Given the description of an element on the screen output the (x, y) to click on. 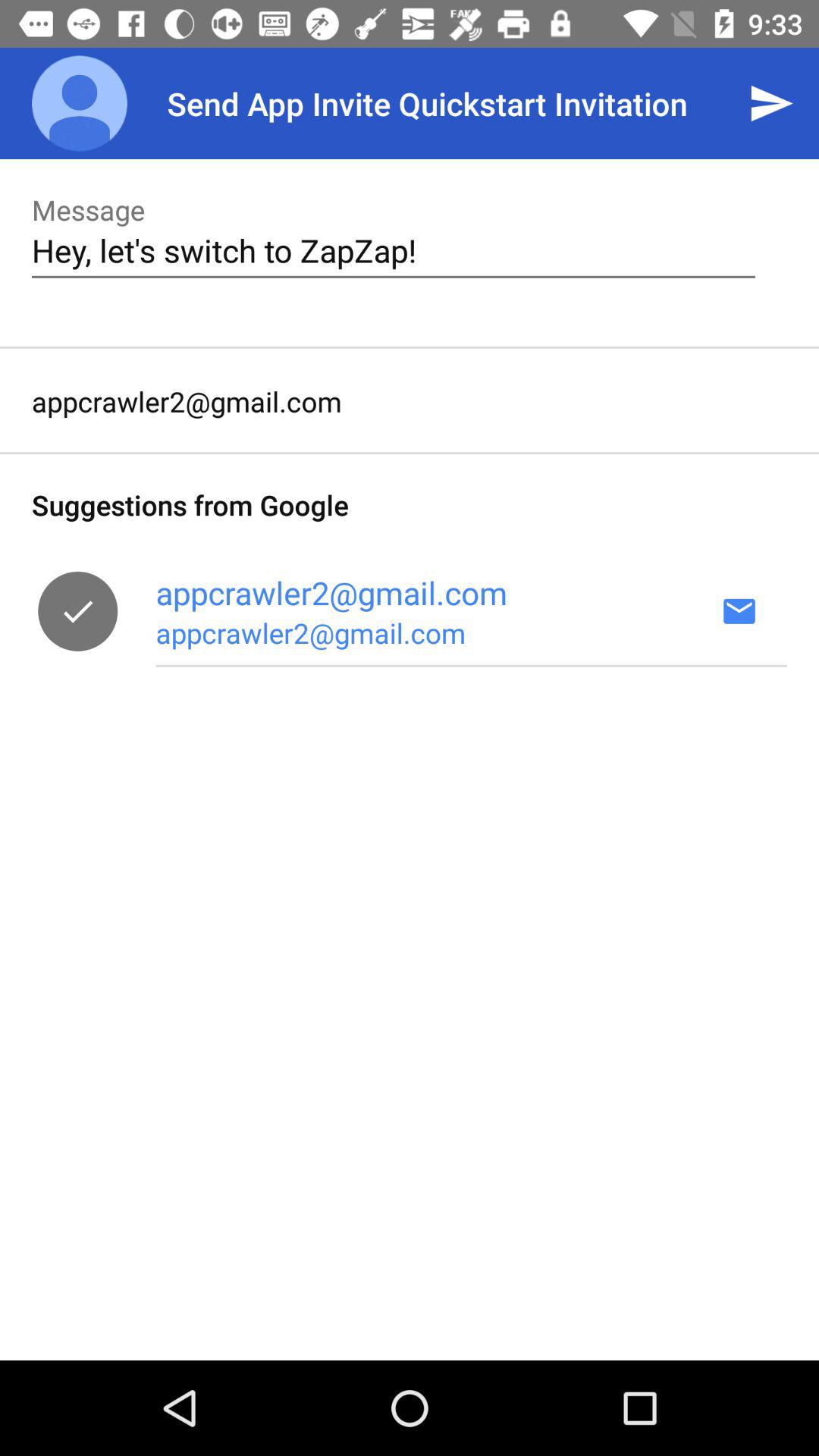
open item below the message (393, 249)
